Given the description of an element on the screen output the (x, y) to click on. 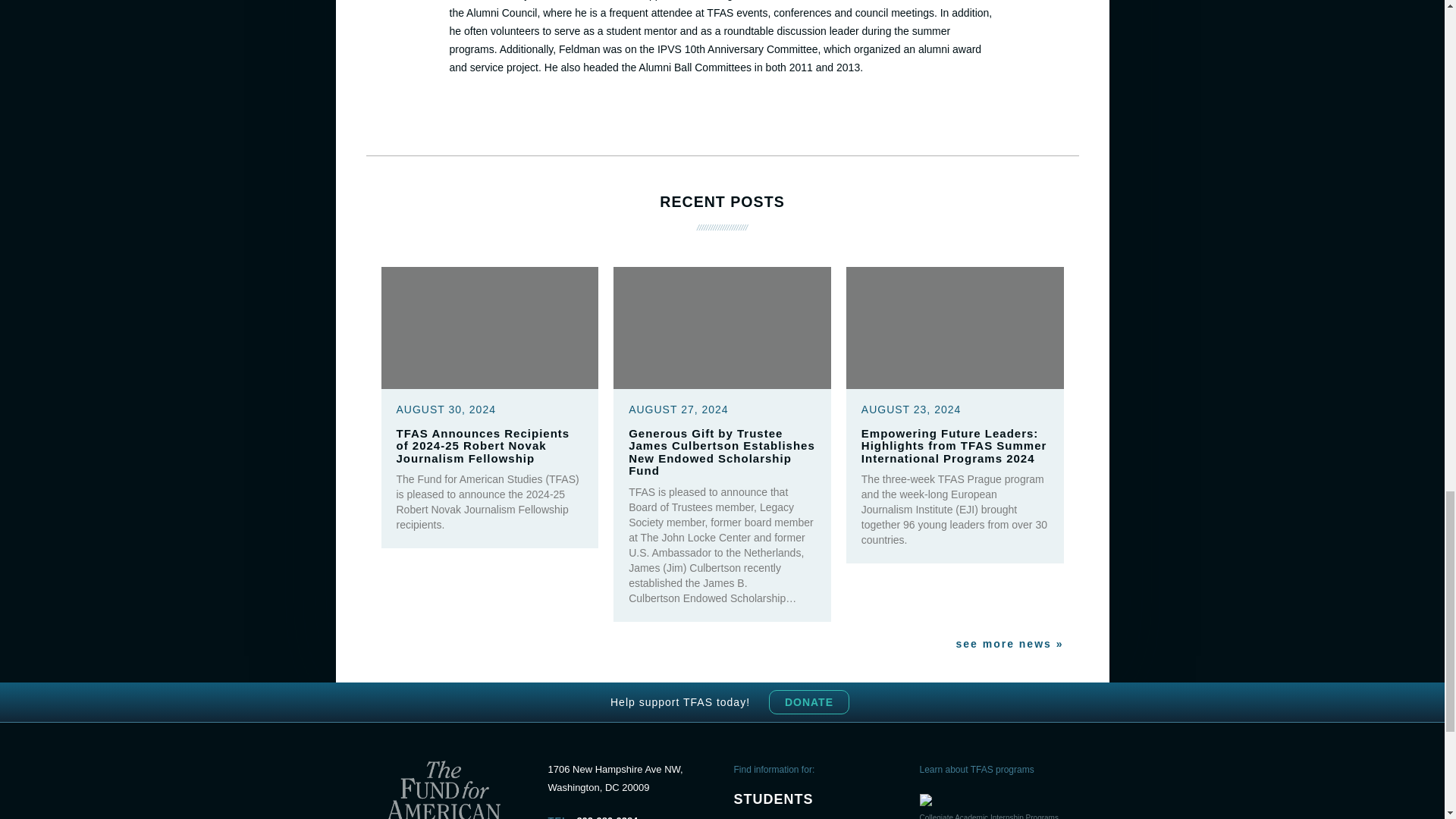
STUDENTS (773, 798)
Donate (808, 702)
Donate (808, 702)
